Given the description of an element on the screen output the (x, y) to click on. 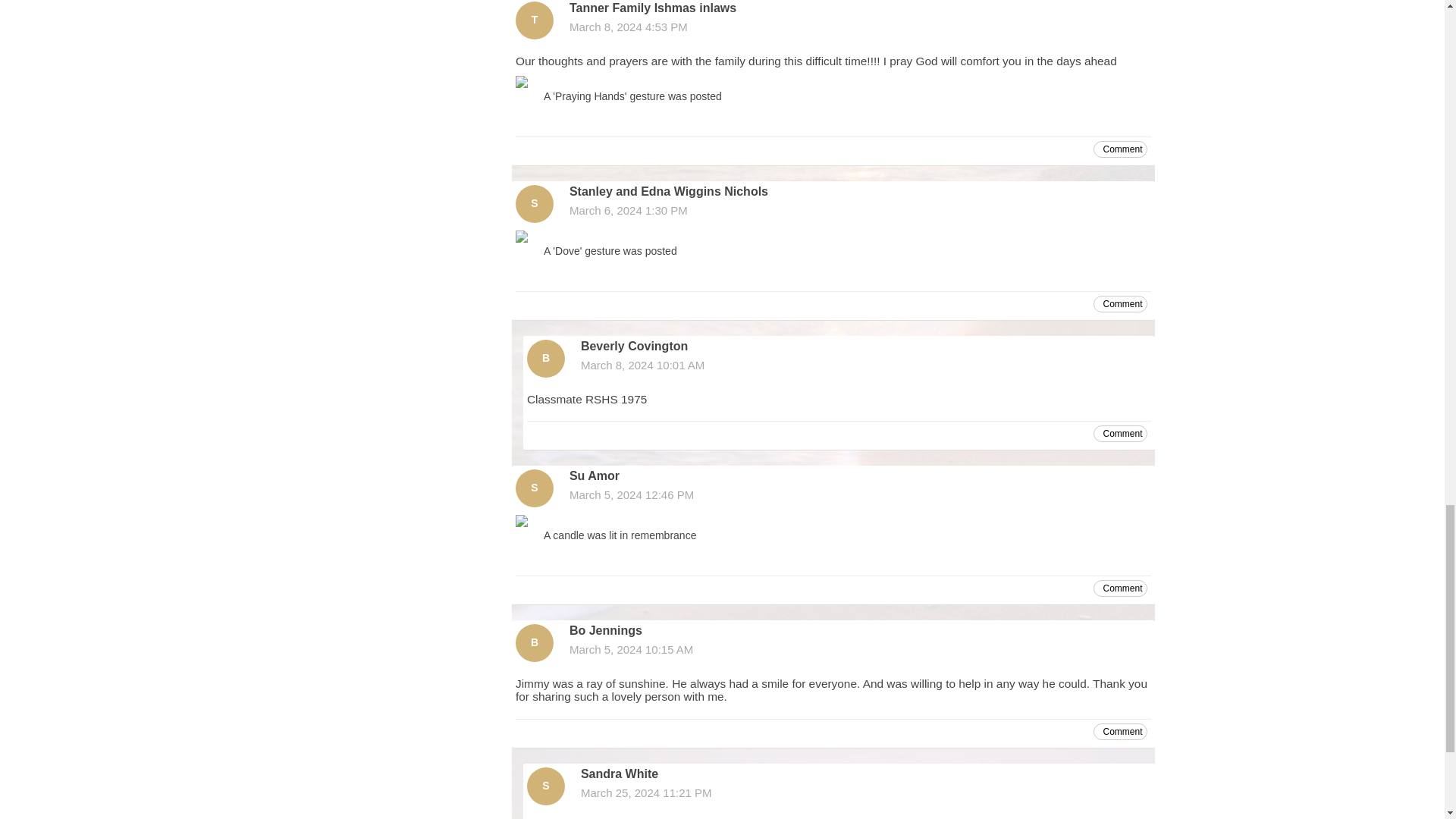
Sandra White (545, 786)
Bo Jennings (534, 642)
Tanner Family Ishmas inlaws (534, 20)
Stanley and Edna Wiggins Nichols (534, 203)
Su Amor (534, 487)
Beverly Covington (545, 358)
